Given the description of an element on the screen output the (x, y) to click on. 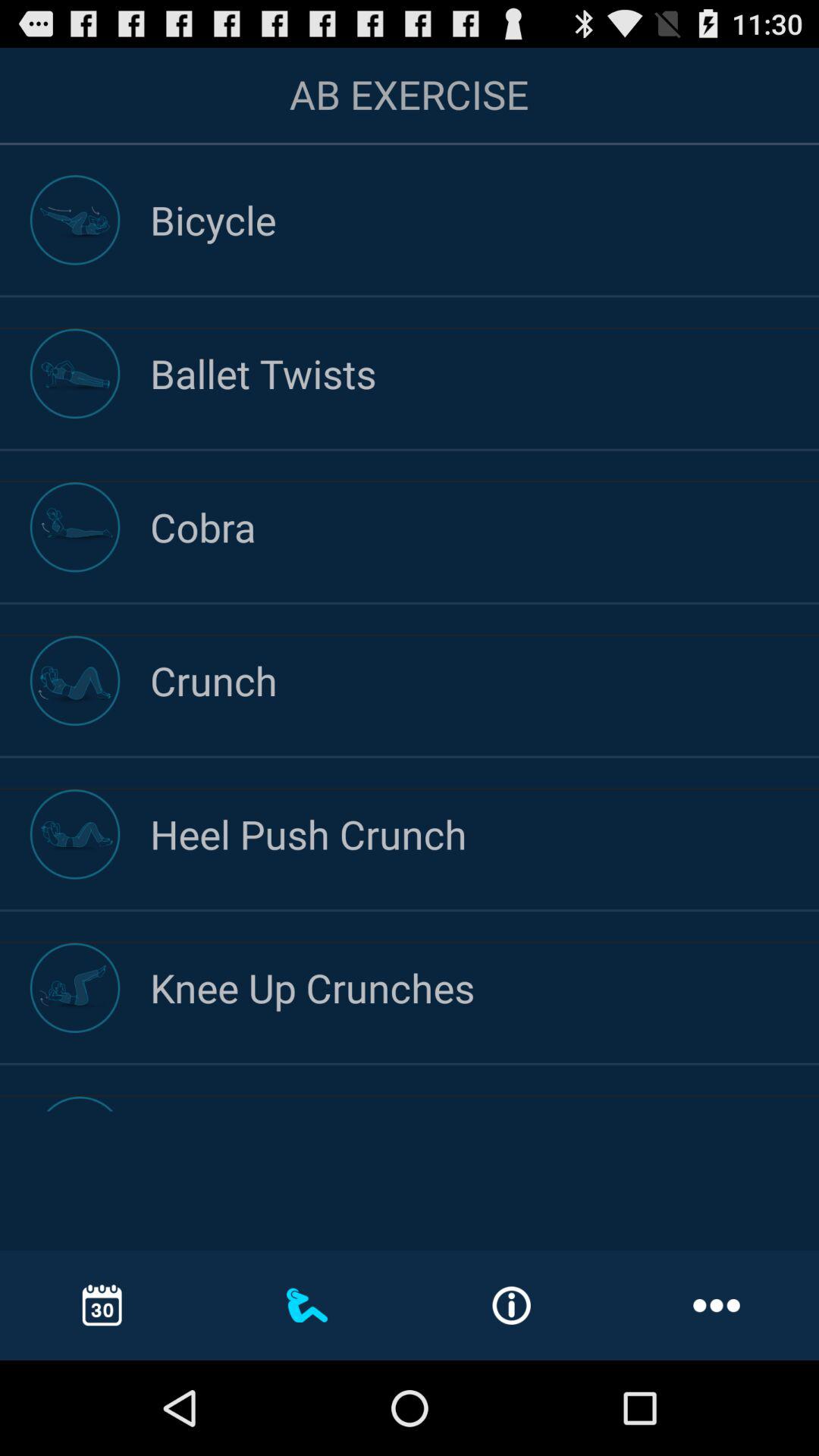
press the cobra (484, 526)
